Given the description of an element on the screen output the (x, y) to click on. 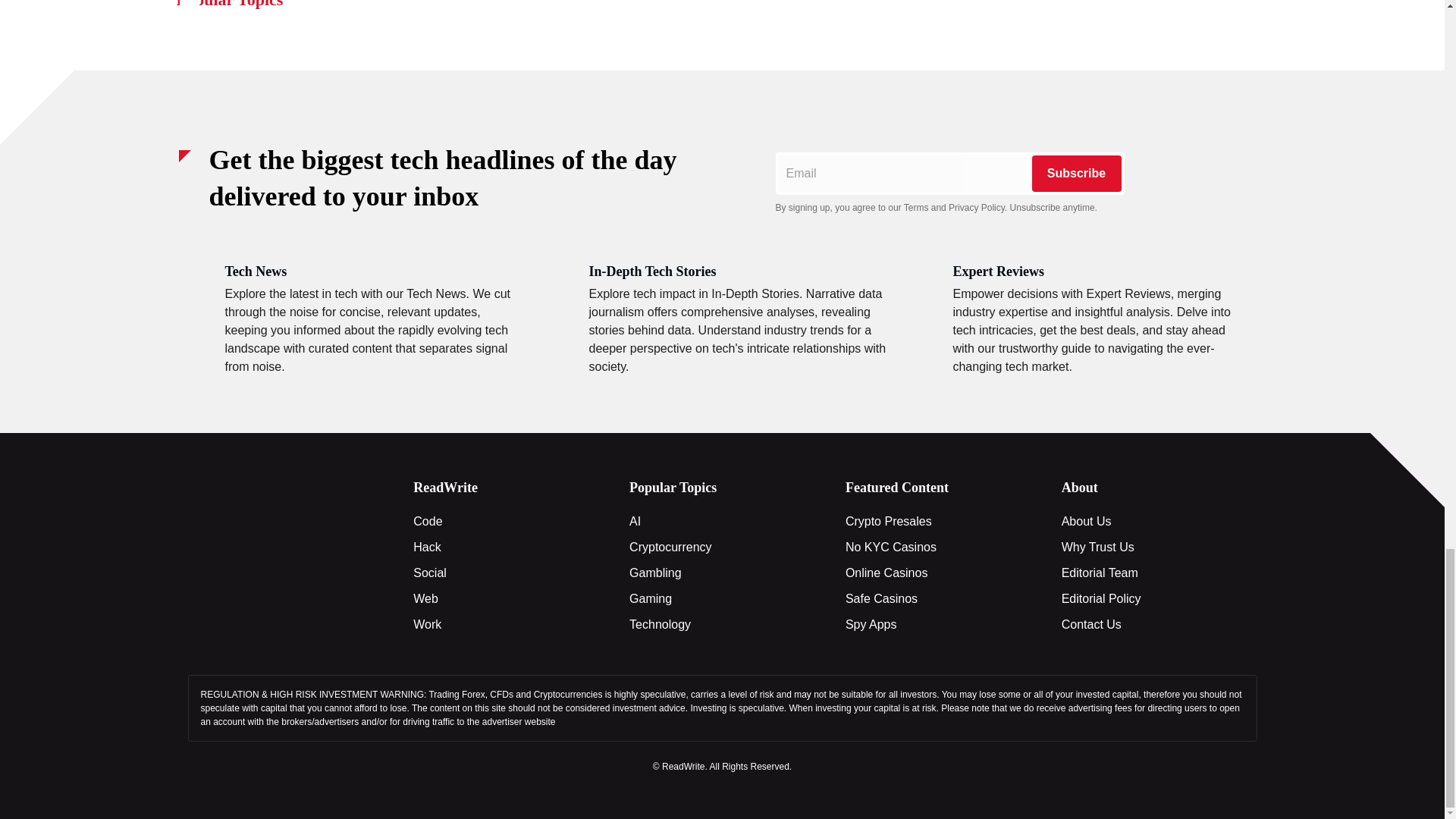
Subscribe (1075, 173)
